Given the description of an element on the screen output the (x, y) to click on. 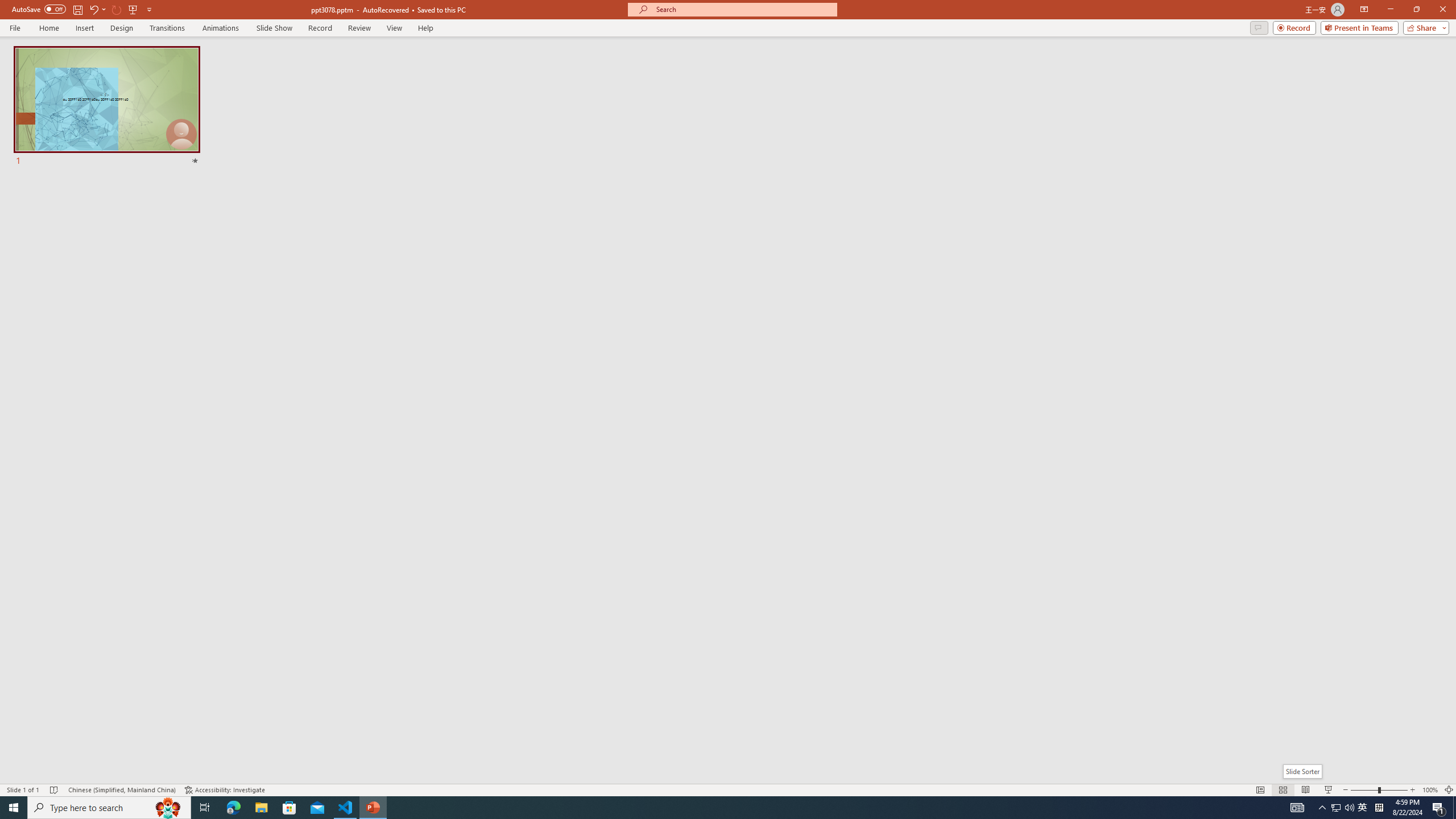
Zoom 100% (1430, 790)
